Given the description of an element on the screen output the (x, y) to click on. 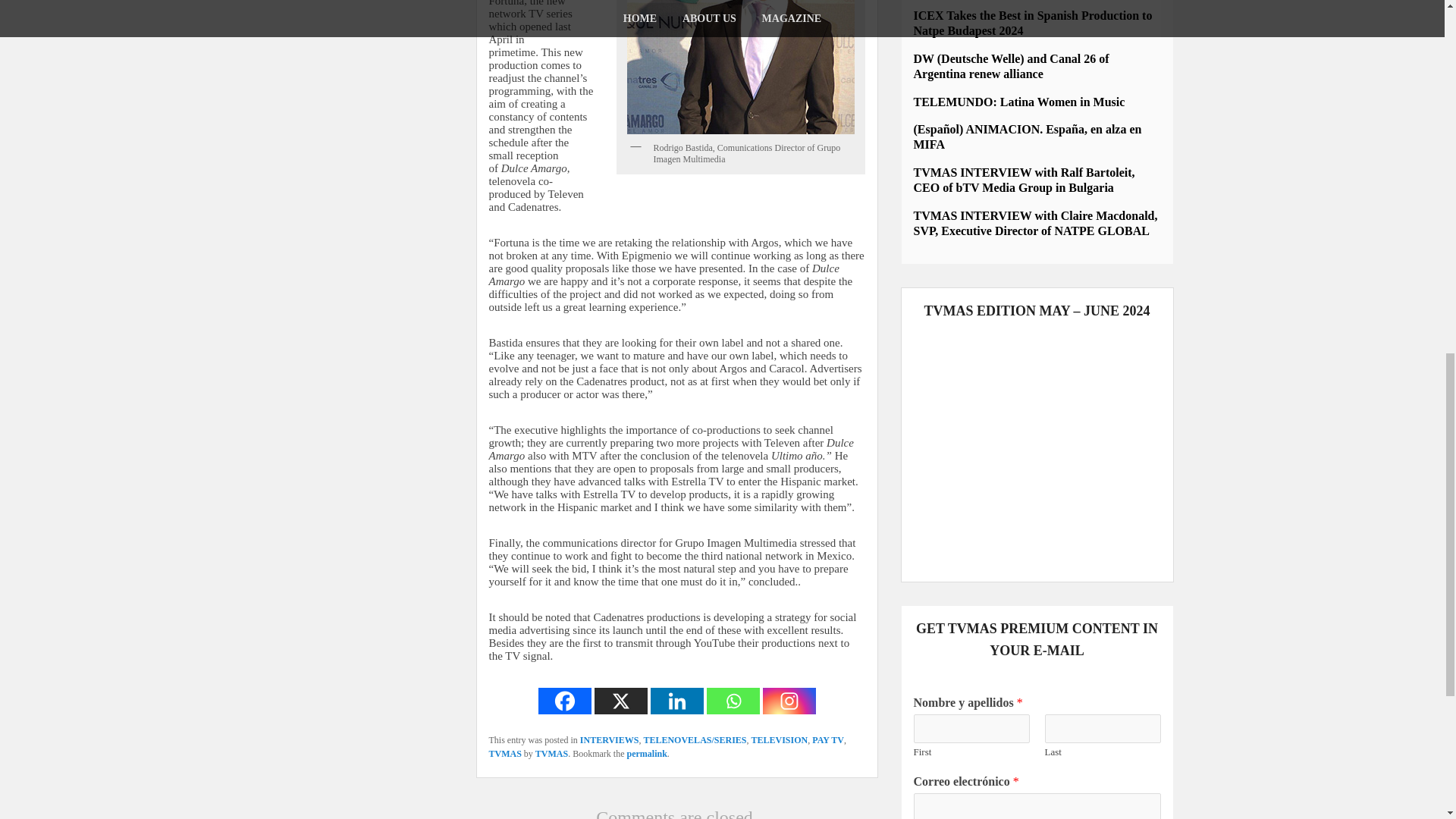
Facebook (564, 700)
Whatsapp (733, 700)
Rodrigo-bastidas-300 (741, 67)
Linkedin (676, 700)
Instagram (788, 700)
X (620, 700)
